Given the description of an element on the screen output the (x, y) to click on. 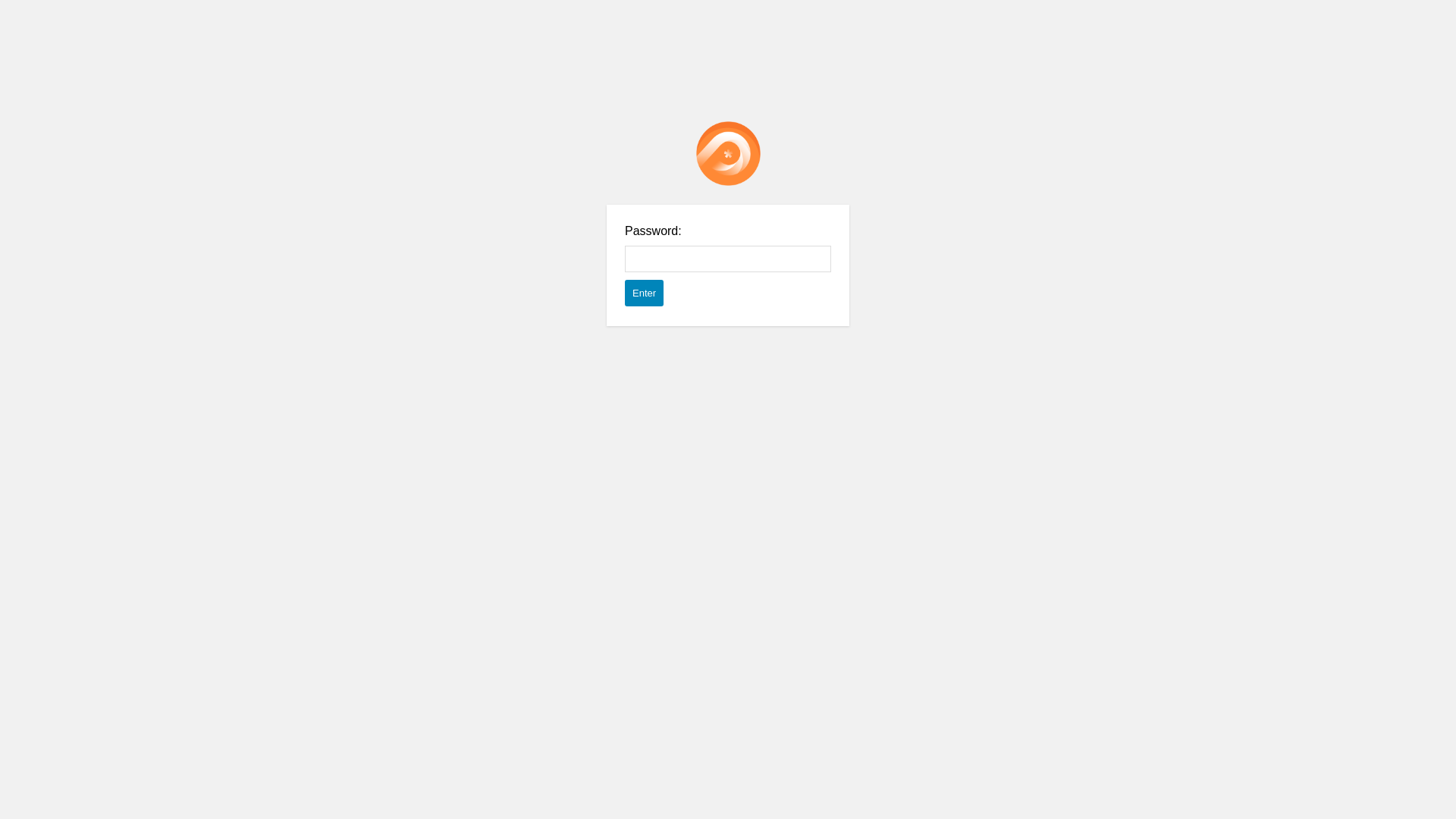
Password Protect WordPress plugin Element type: text (728, 153)
Enter Element type: text (643, 292)
